Given the description of an element on the screen output the (x, y) to click on. 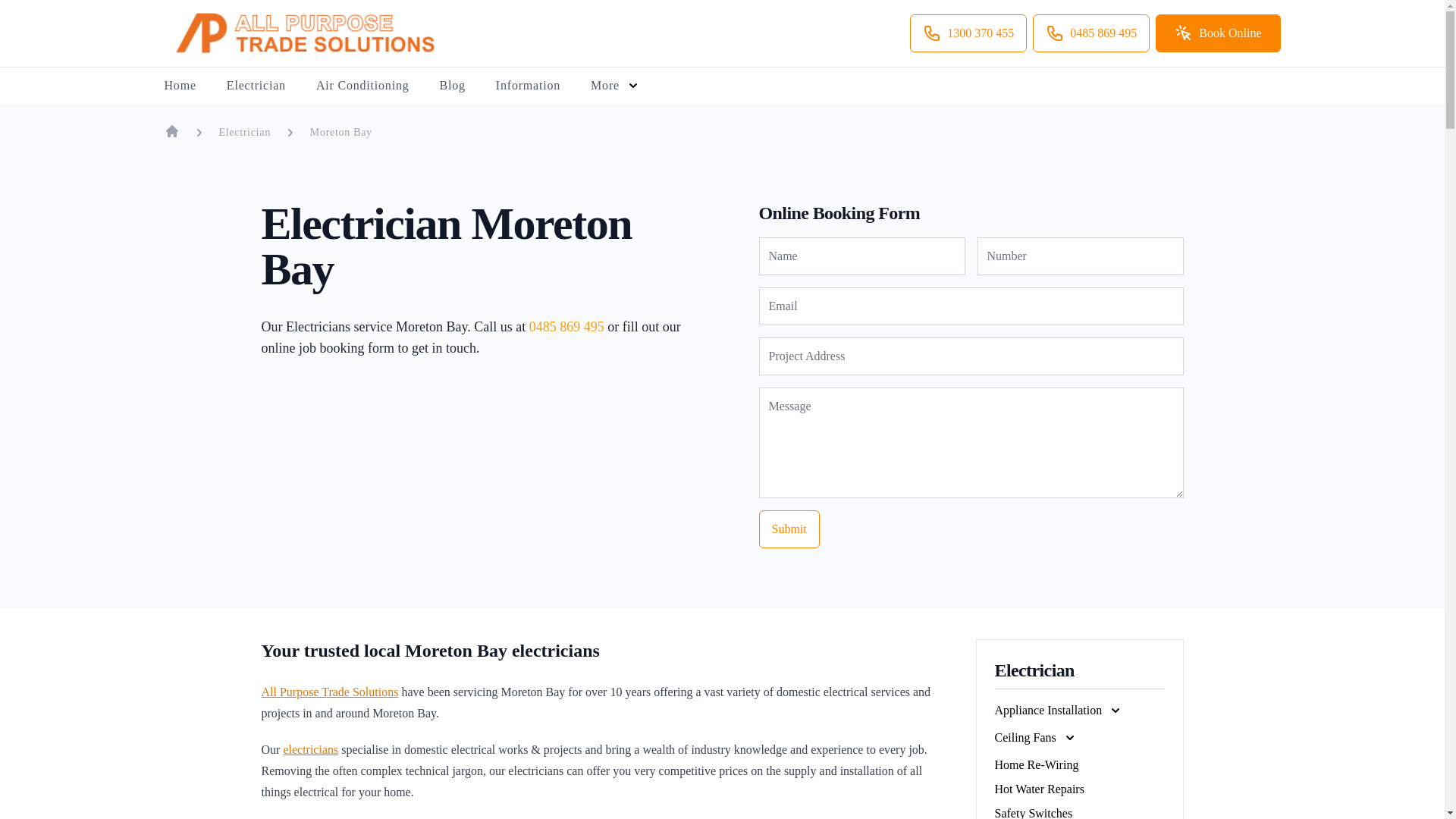
All Purpose Trade Solutions Home Page (171, 130)
Electrician (243, 131)
electricians (309, 748)
Moreton Bay (341, 131)
Air Conditioning (362, 85)
Home (179, 85)
Electrician and Air Conditioning Blog (452, 85)
Book Online (1217, 33)
0485 869 495 (1091, 33)
Information (528, 85)
